Given the description of an element on the screen output the (x, y) to click on. 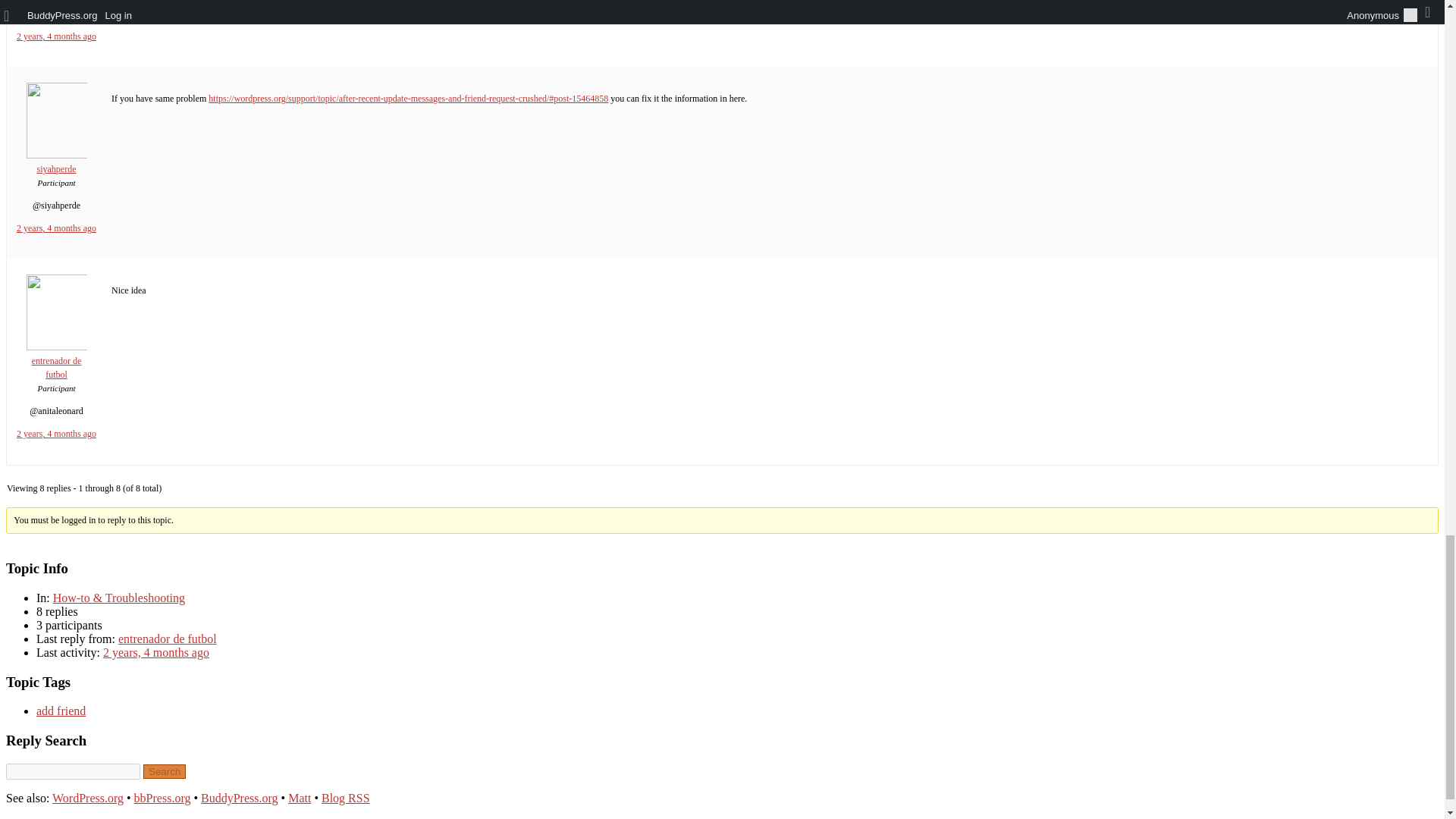
entrenador de futbol (166, 638)
entrenador de futbol (56, 361)
Search (164, 771)
2 years, 4 months ago (56, 227)
2 years, 4 months ago (56, 433)
2 years, 4 months ago (56, 36)
siyahperde (56, 162)
